Given the description of an element on the screen output the (x, y) to click on. 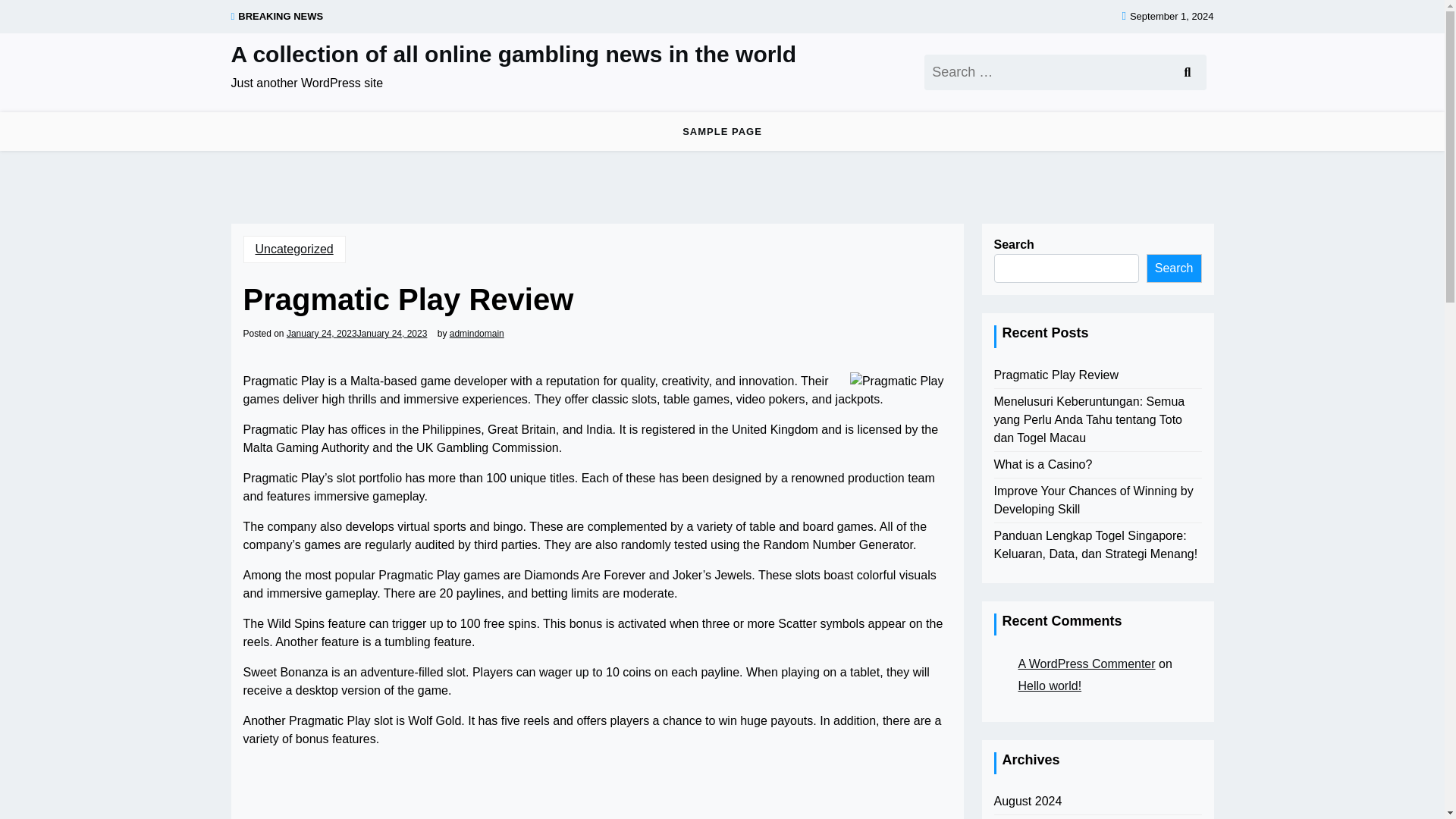
August 2024 (1026, 801)
Hello world! (1049, 686)
Search (1186, 72)
A WordPress Commenter (1085, 664)
SAMPLE PAGE (721, 131)
What is a Casino? (1042, 464)
Search (1186, 72)
Search (1186, 72)
A collection of all online gambling news in the world (513, 53)
